Given the description of an element on the screen output the (x, y) to click on. 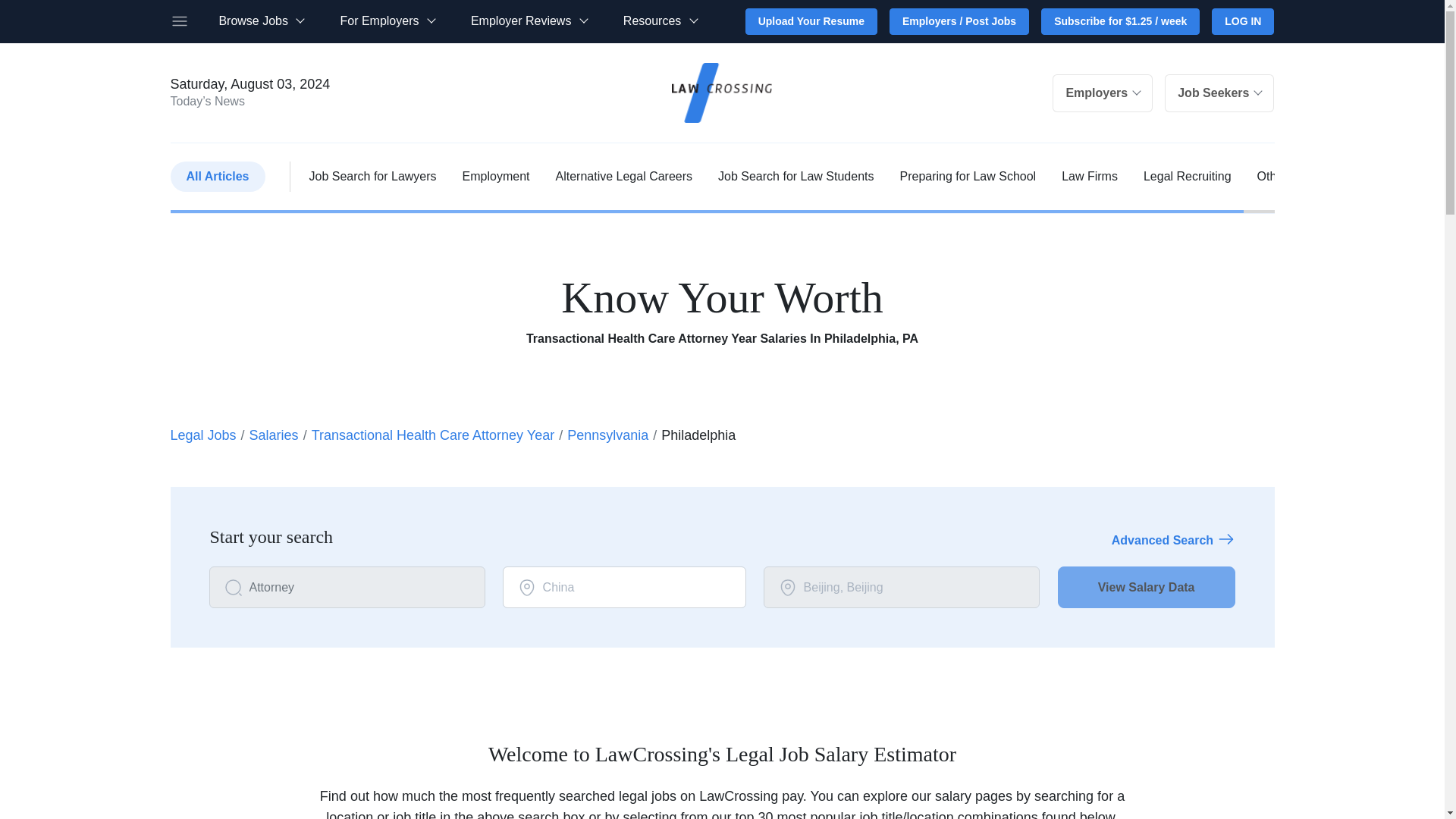
Resources (660, 20)
Job Seekers (1219, 93)
Browse Jobs (260, 20)
Employer Reviews (528, 20)
For Employers (386, 20)
Employers (1102, 93)
Beijing, Beijing (900, 587)
Upload Your Resume (811, 22)
LOG IN (1242, 22)
